Given the description of an element on the screen output the (x, y) to click on. 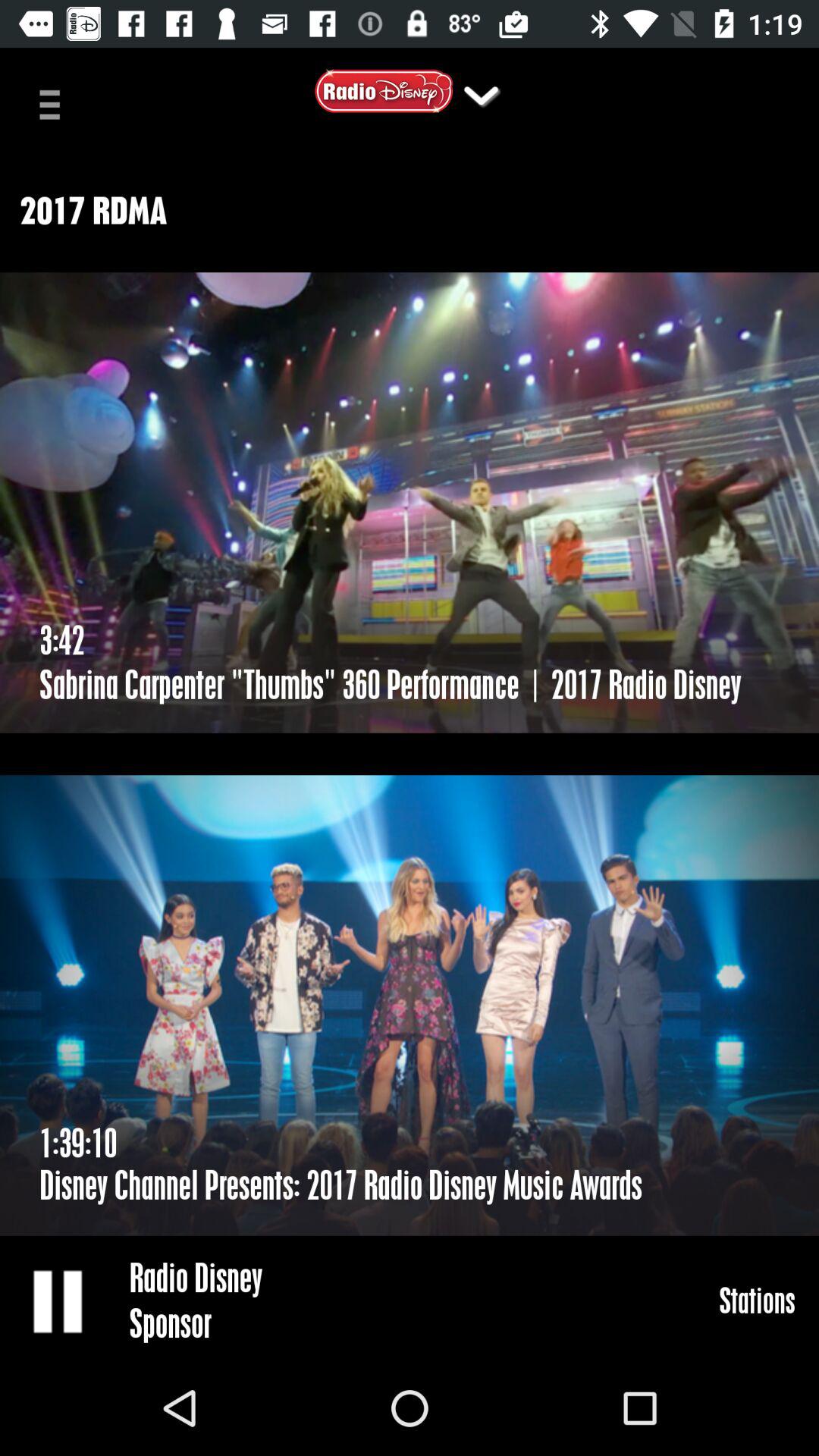
turn off the item above the 2017 rdma item (55, 103)
